Given the description of an element on the screen output the (x, y) to click on. 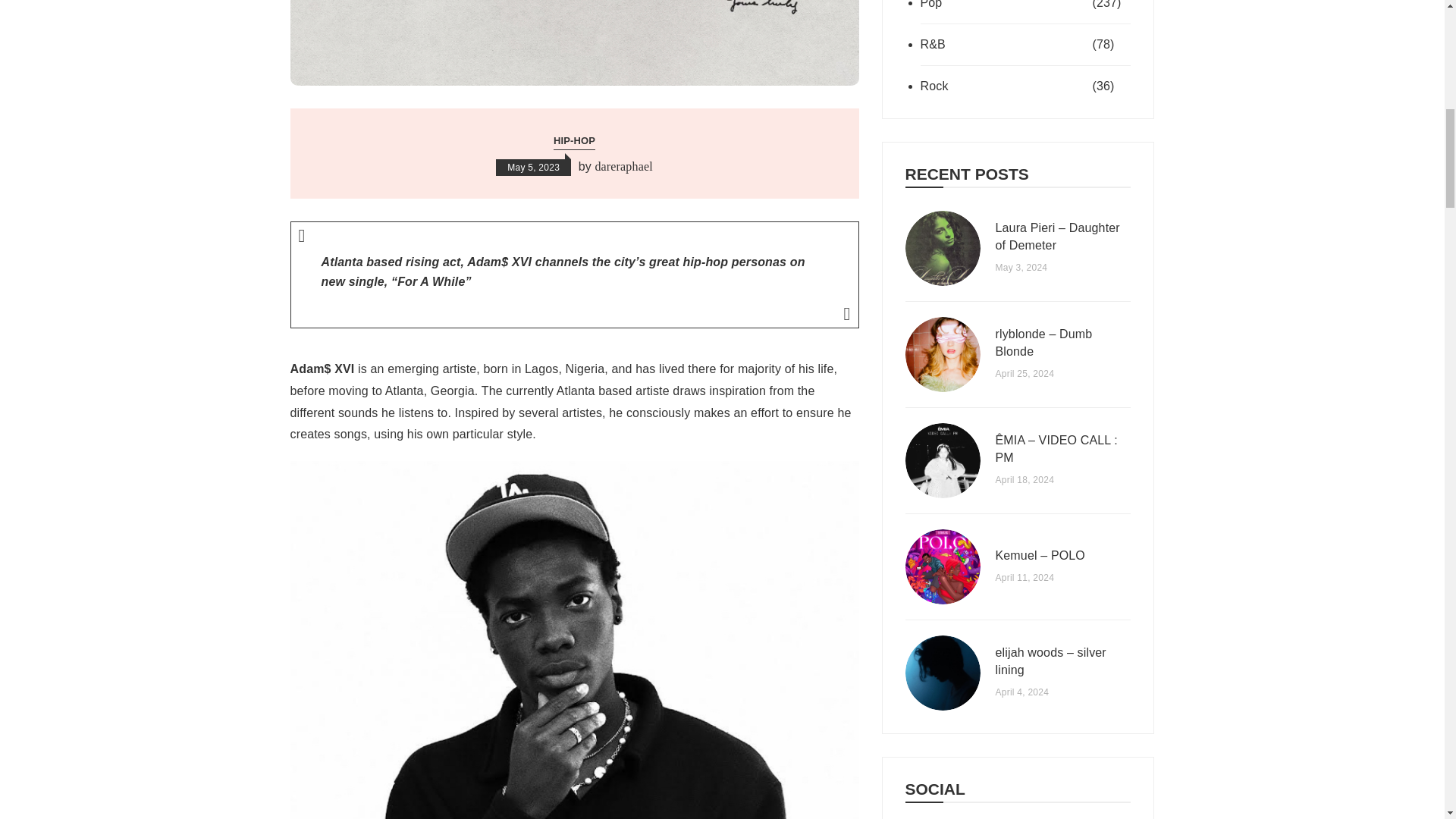
May 5, 2023 (533, 167)
HIP-HOP (574, 141)
dareraphael (623, 167)
